Given the description of an element on the screen output the (x, y) to click on. 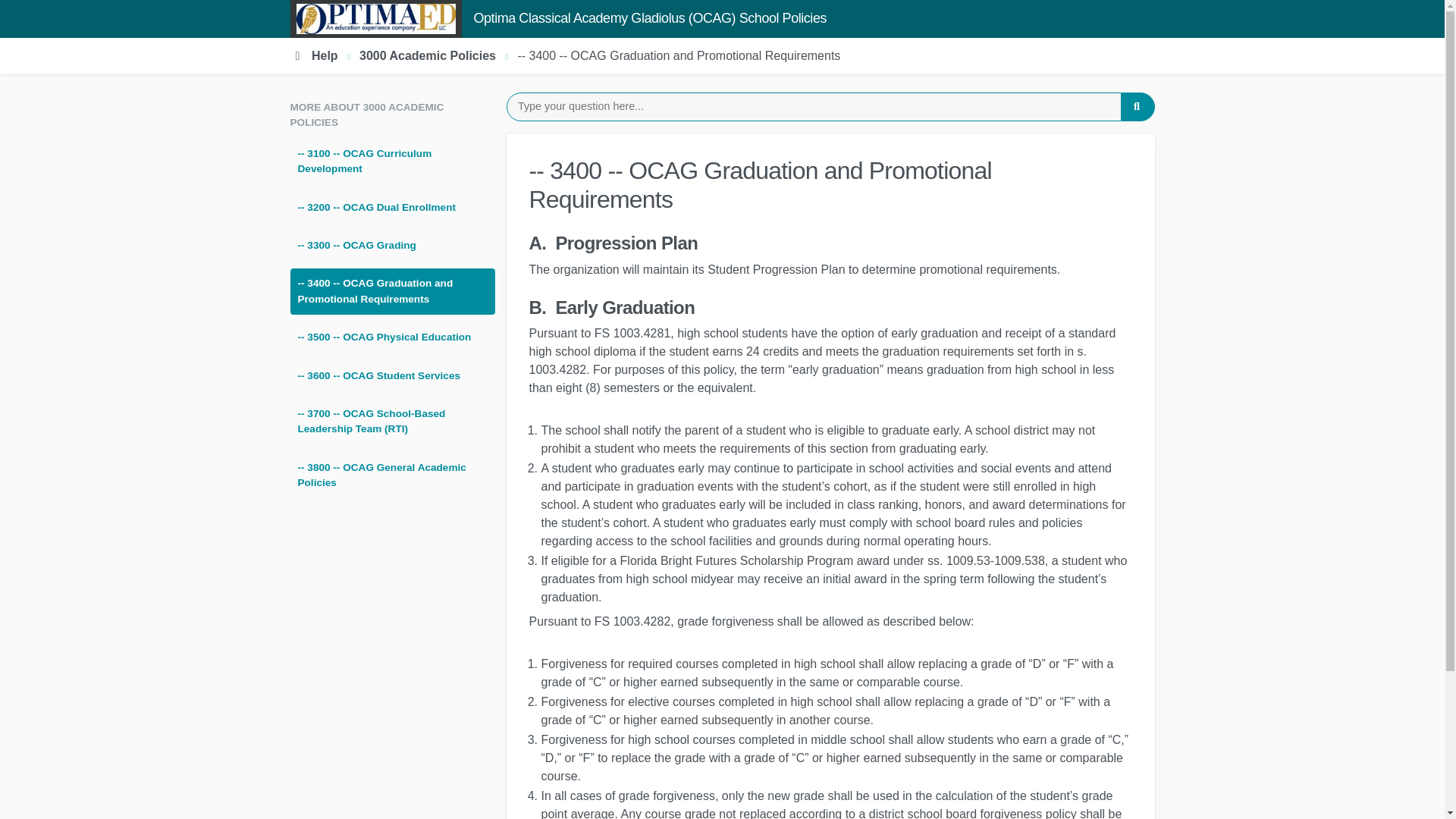
-- 3800 -- OCAG General Academic Policies (392, 475)
-- 3500 -- OCAG Physical Education (392, 337)
-- 3100 -- OCAG Curriculum Development (392, 161)
3000 Academic Policies (427, 55)
-- 3400 -- OCAG Graduation and Promotional Requirements (392, 291)
-- 3600 -- OCAG Student Services (392, 376)
-- 3200 -- OCAG Dual Enrollment (392, 207)
MORE ABOUT 3000 ACADEMIC POLICIES (392, 115)
Help (313, 55)
-- 3300 -- OCAG Grading (392, 245)
